Given the description of an element on the screen output the (x, y) to click on. 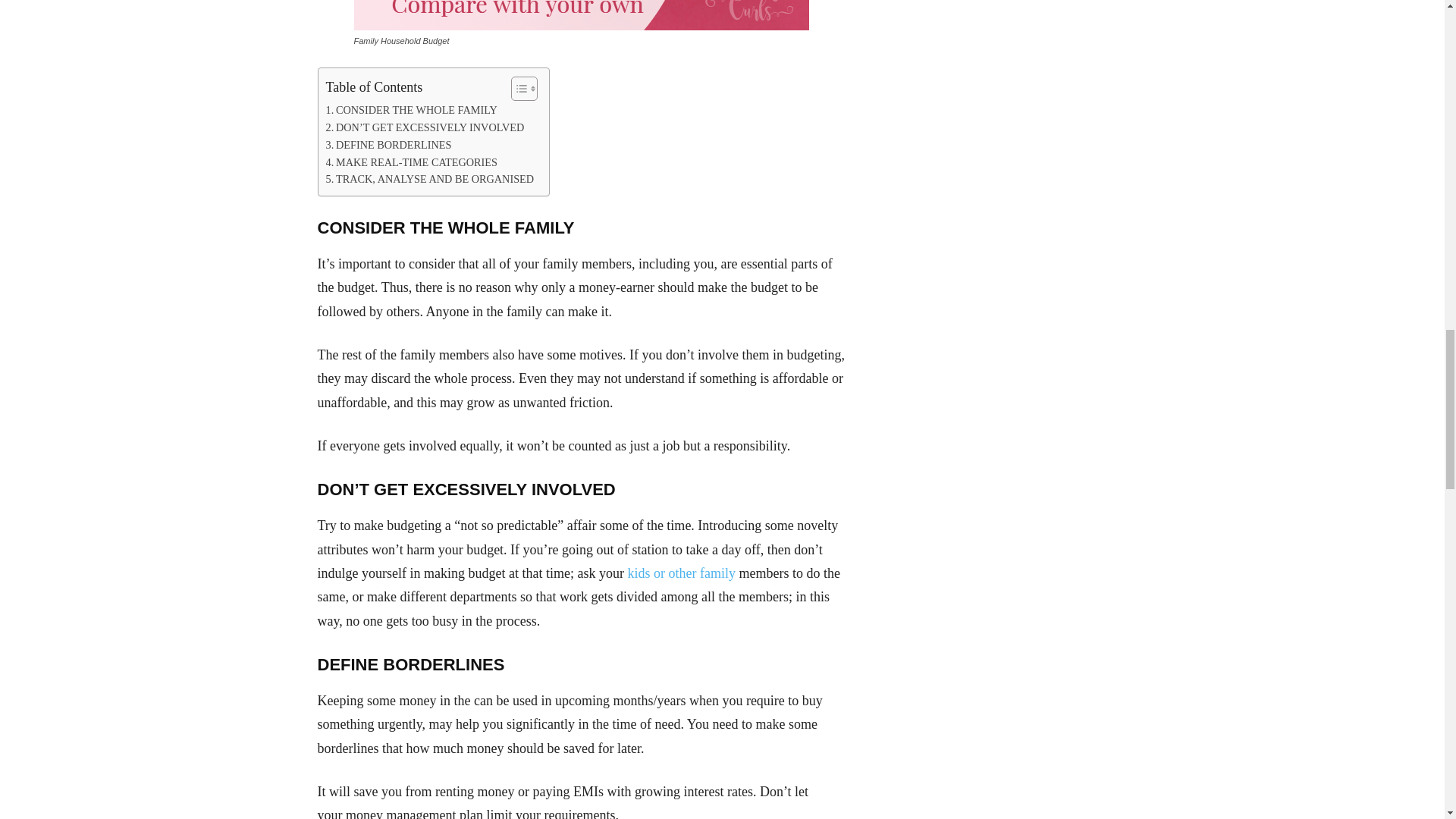
CONSIDER THE WHOLE FAMILY (411, 109)
Family Household Budget - A Best Fashion (580, 15)
MAKE REAL-TIME CATEGORIES (411, 162)
DEFINE BORDERLINES (388, 144)
